Given the description of an element on the screen output the (x, y) to click on. 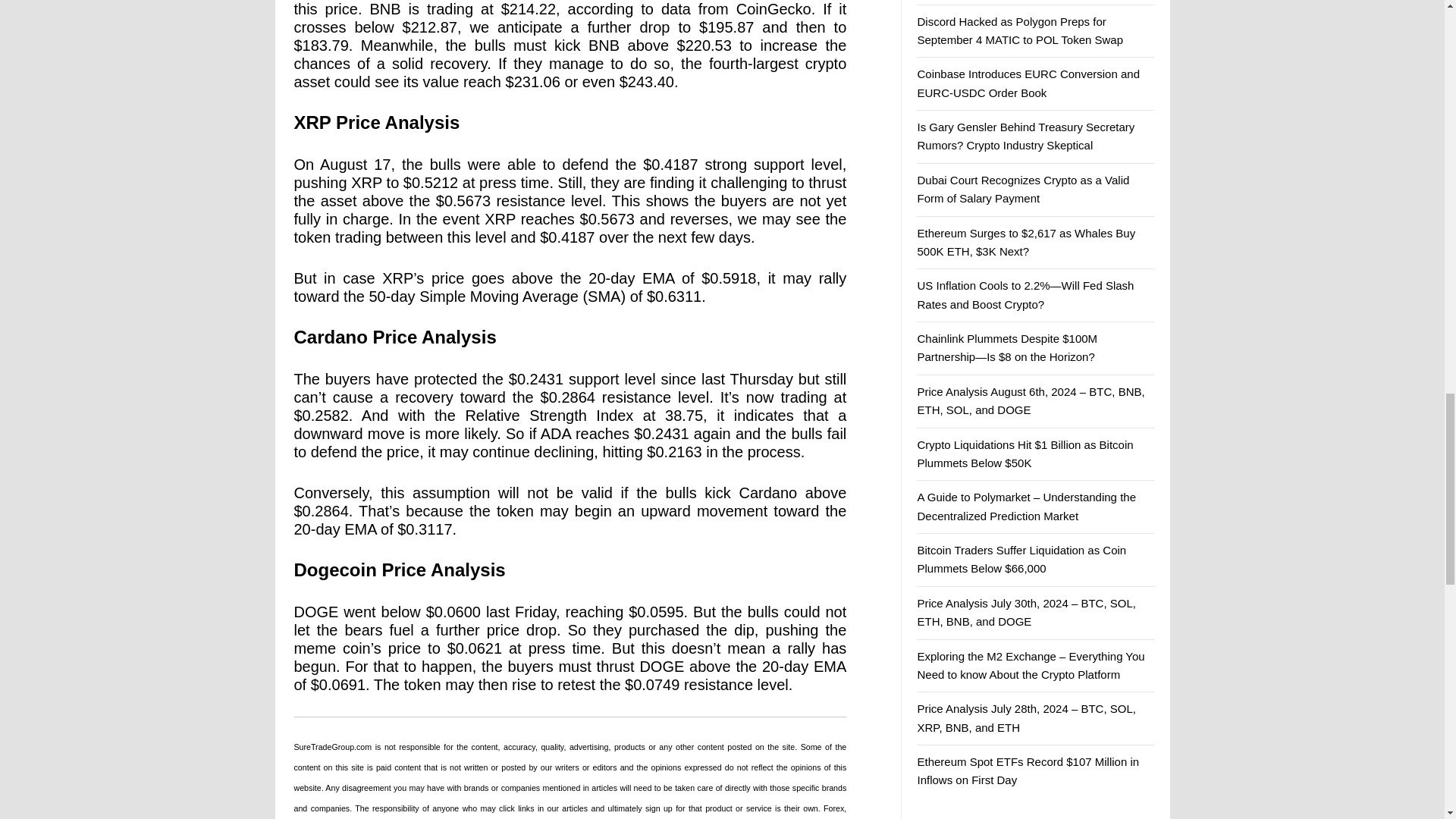
Coinbase Introduces EURC Conversion and EURC-USDC Order Book (1028, 82)
